Given the description of an element on the screen output the (x, y) to click on. 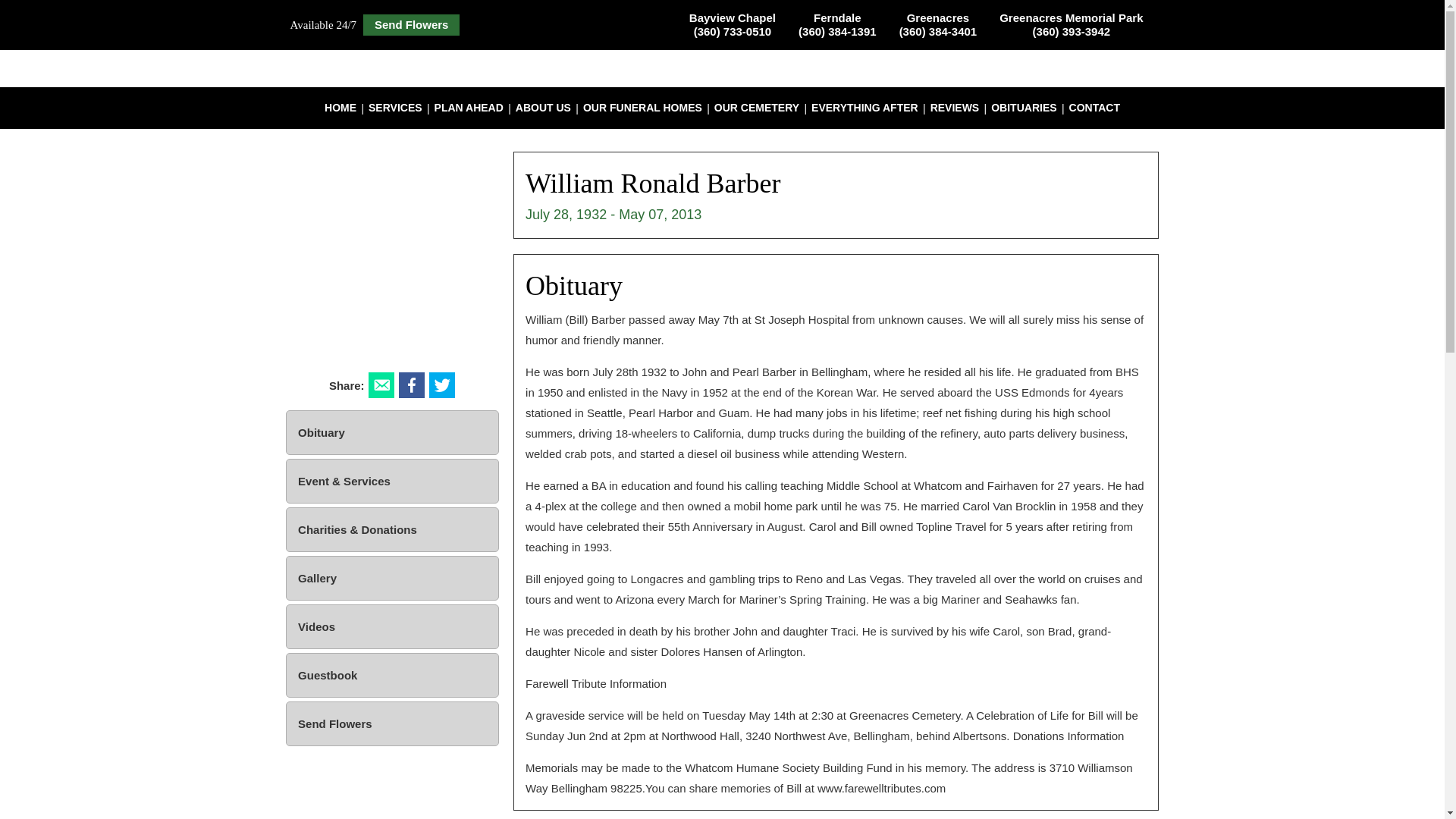
SERVICES (395, 107)
Send Flowers (411, 25)
OUR FUNERAL HOMES (641, 107)
PLAN AHEAD (468, 107)
Ferndale (837, 24)
ABOUT US (542, 107)
HOME (340, 107)
REVIEWS (954, 107)
CONTACT (1093, 107)
OBITUARIES (1023, 107)
Greenacres (938, 24)
OUR CEMETERY (756, 107)
EVERYTHING AFTER (864, 107)
Bayview Chapel (732, 24)
Greenacres Memorial Park (1071, 24)
